Given the description of an element on the screen output the (x, y) to click on. 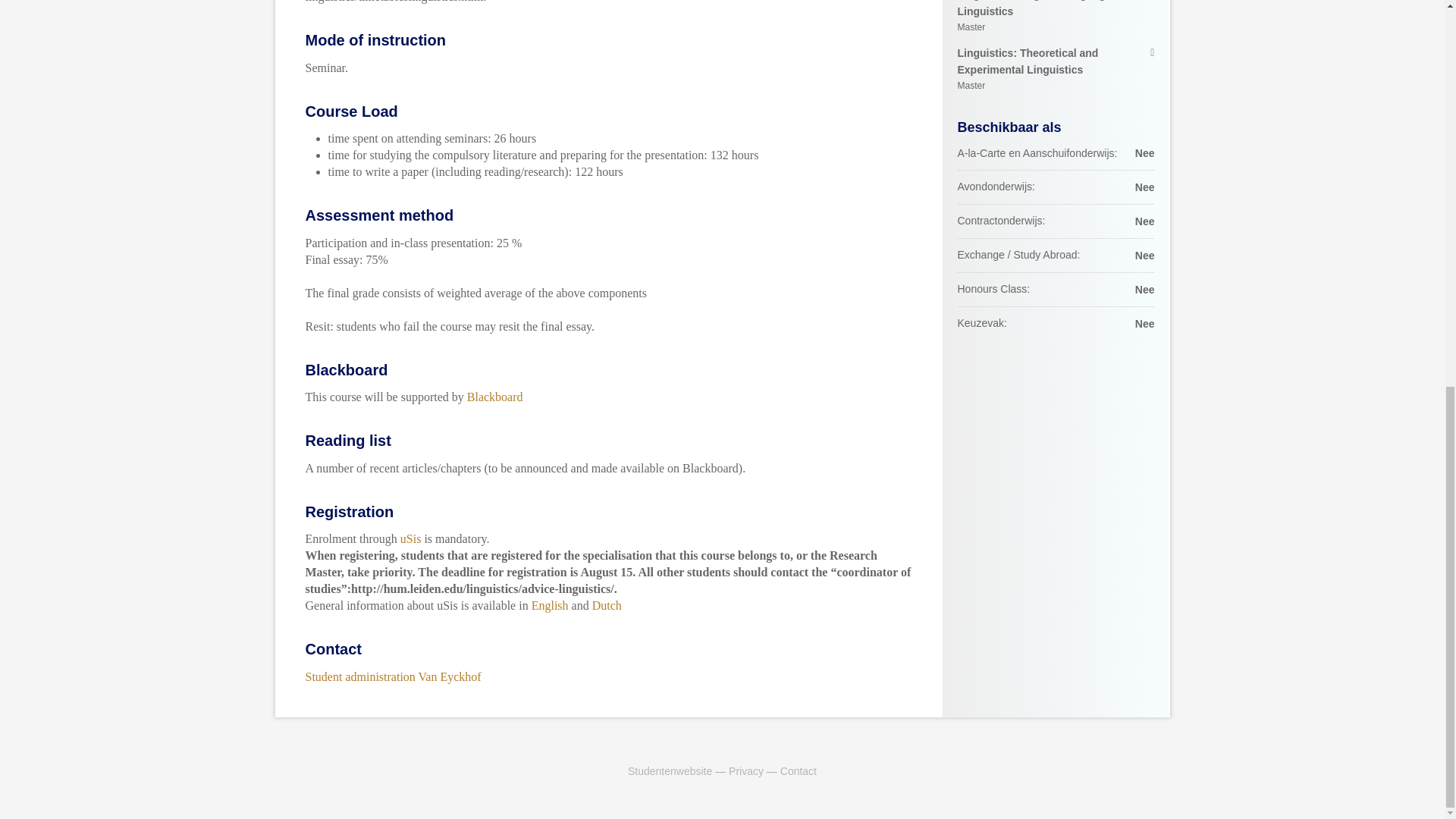
Contact (798, 770)
English (550, 604)
Dutch (1055, 70)
Studentenwebsite (606, 604)
Student administration Van Eyckhof (669, 770)
Blackboard (392, 675)
Privacy (494, 396)
uSis (745, 770)
